Given the description of an element on the screen output the (x, y) to click on. 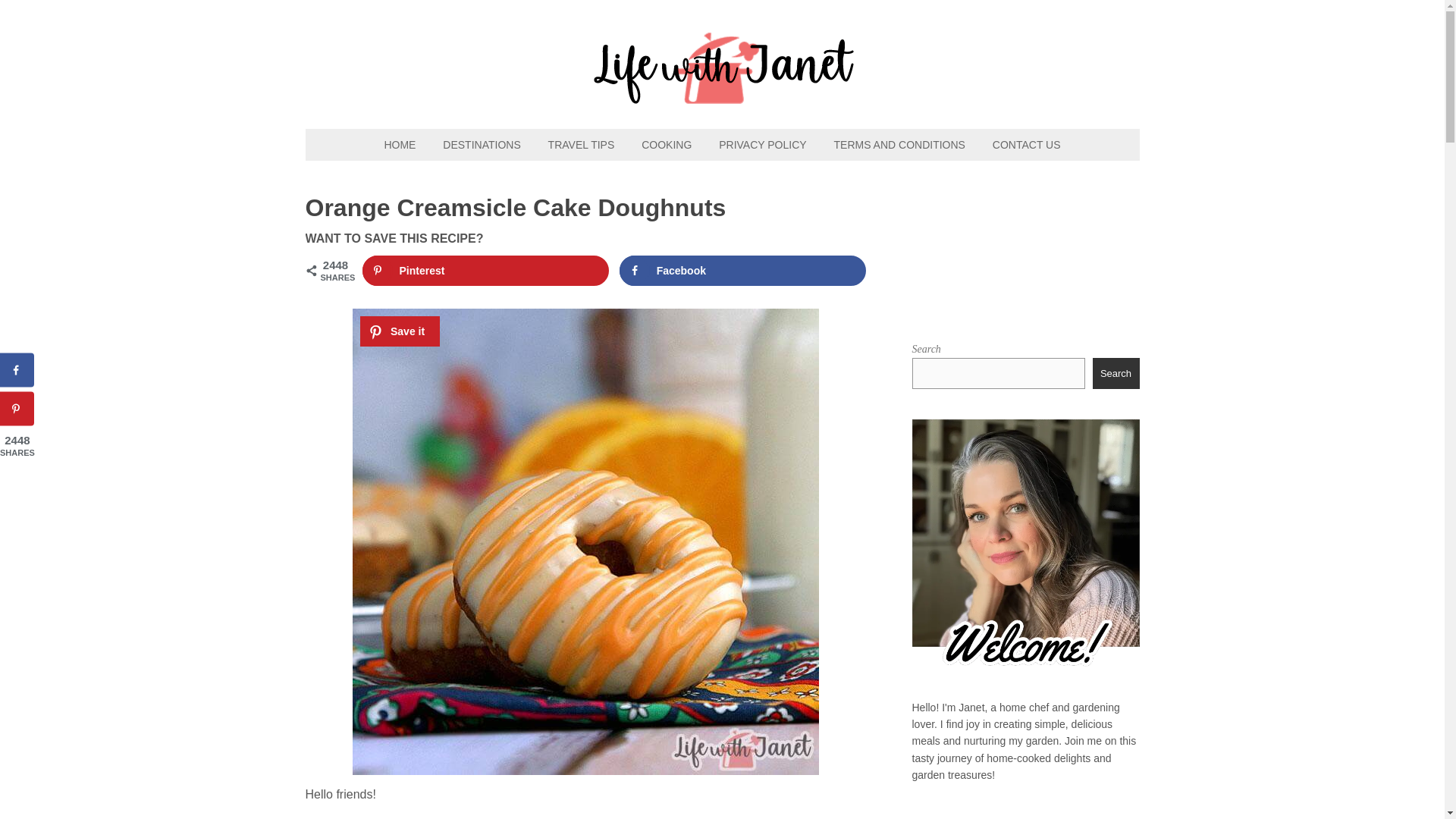
Share on Facebook (743, 270)
TRAVEL TIPS (581, 144)
CONTACT US (1026, 144)
Pinterest (486, 270)
Save it (399, 331)
Facebook (743, 270)
Life with Janet (721, 95)
Save to Pinterest (486, 270)
COOKING (665, 144)
DESTINATIONS (481, 144)
TERMS AND CONDITIONS (899, 144)
PRIVACY POLICY (762, 144)
HOME (399, 144)
